Given the description of an element on the screen output the (x, y) to click on. 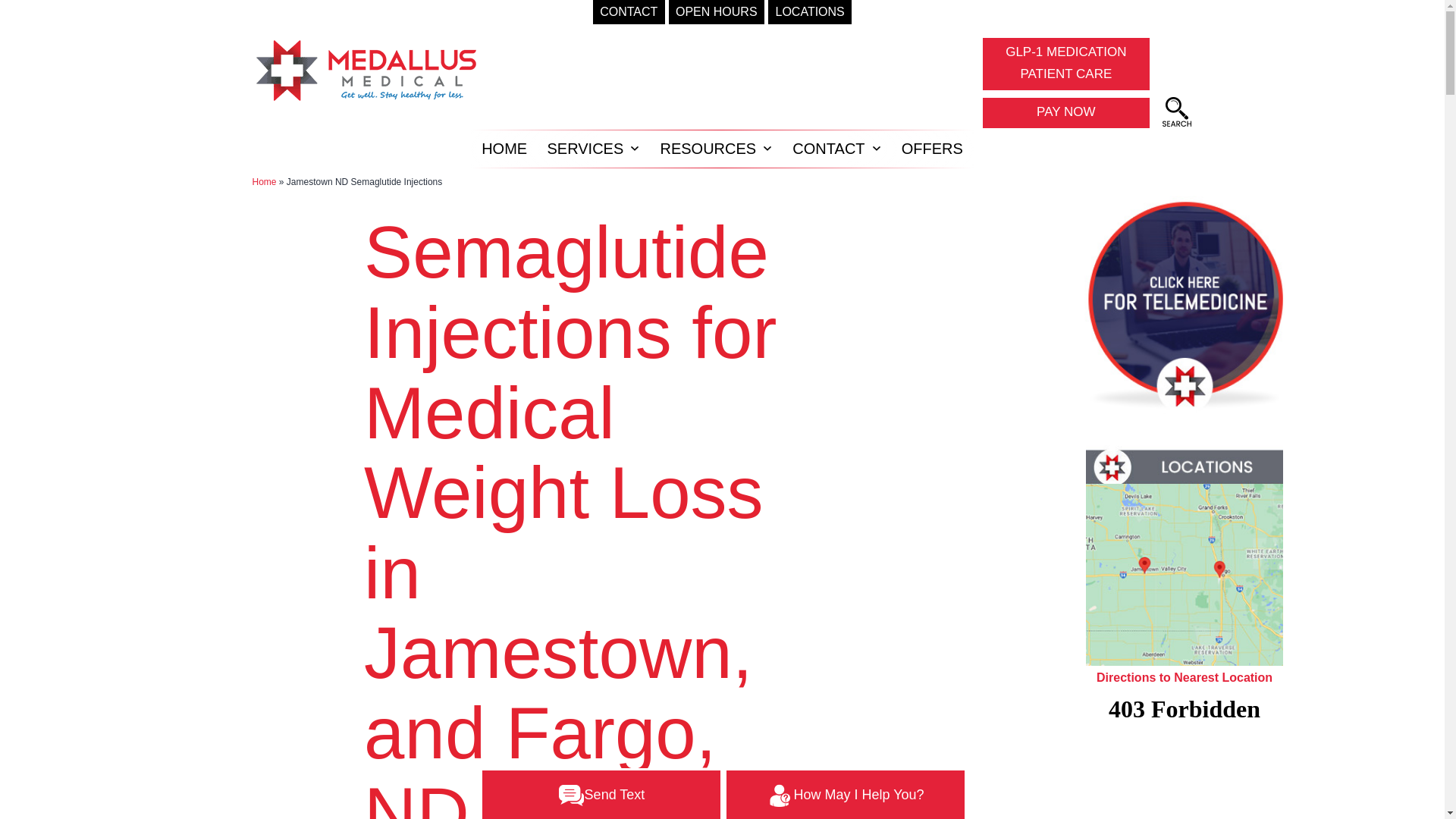
OPEN HOURS (716, 12)
LOCATIONS (809, 12)
Telemedicine Visit at Medallus Urgent Care (1184, 301)
HOME (504, 148)
Medallus Urgent Care Located in Jamestown, and Fargo, ND (1176, 111)
SERVICES (585, 148)
PAY NOW (1065, 112)
CONTACT (1065, 63)
RESOURCES (628, 12)
